Given the description of an element on the screen output the (x, y) to click on. 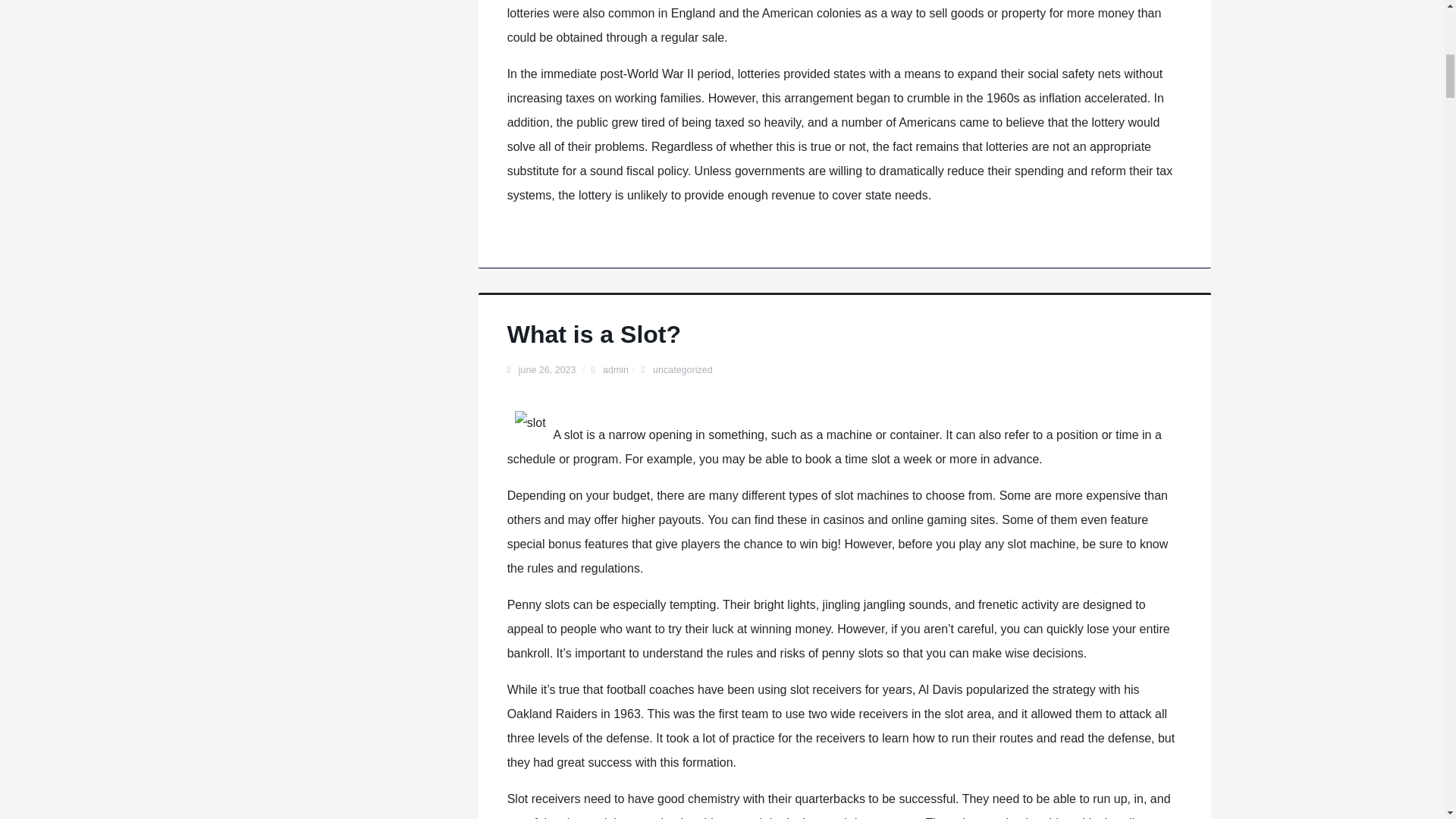
uncategorized (682, 369)
What is a Slot? (593, 334)
june 26, 2023 (548, 369)
admin (615, 369)
